Given the description of an element on the screen output the (x, y) to click on. 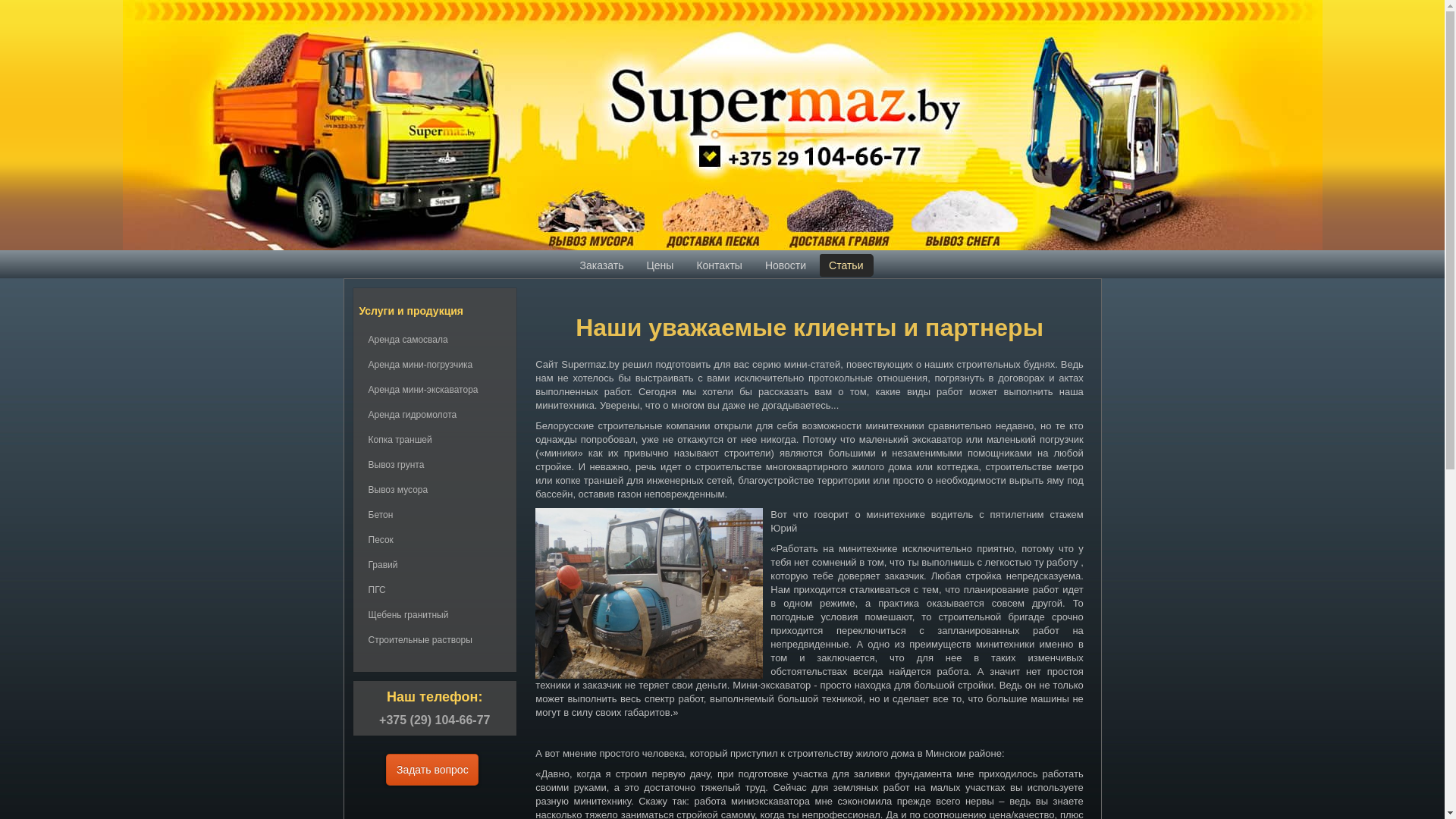
+375 (29) 104-66-77 Element type: text (434, 719)
